Given the description of an element on the screen output the (x, y) to click on. 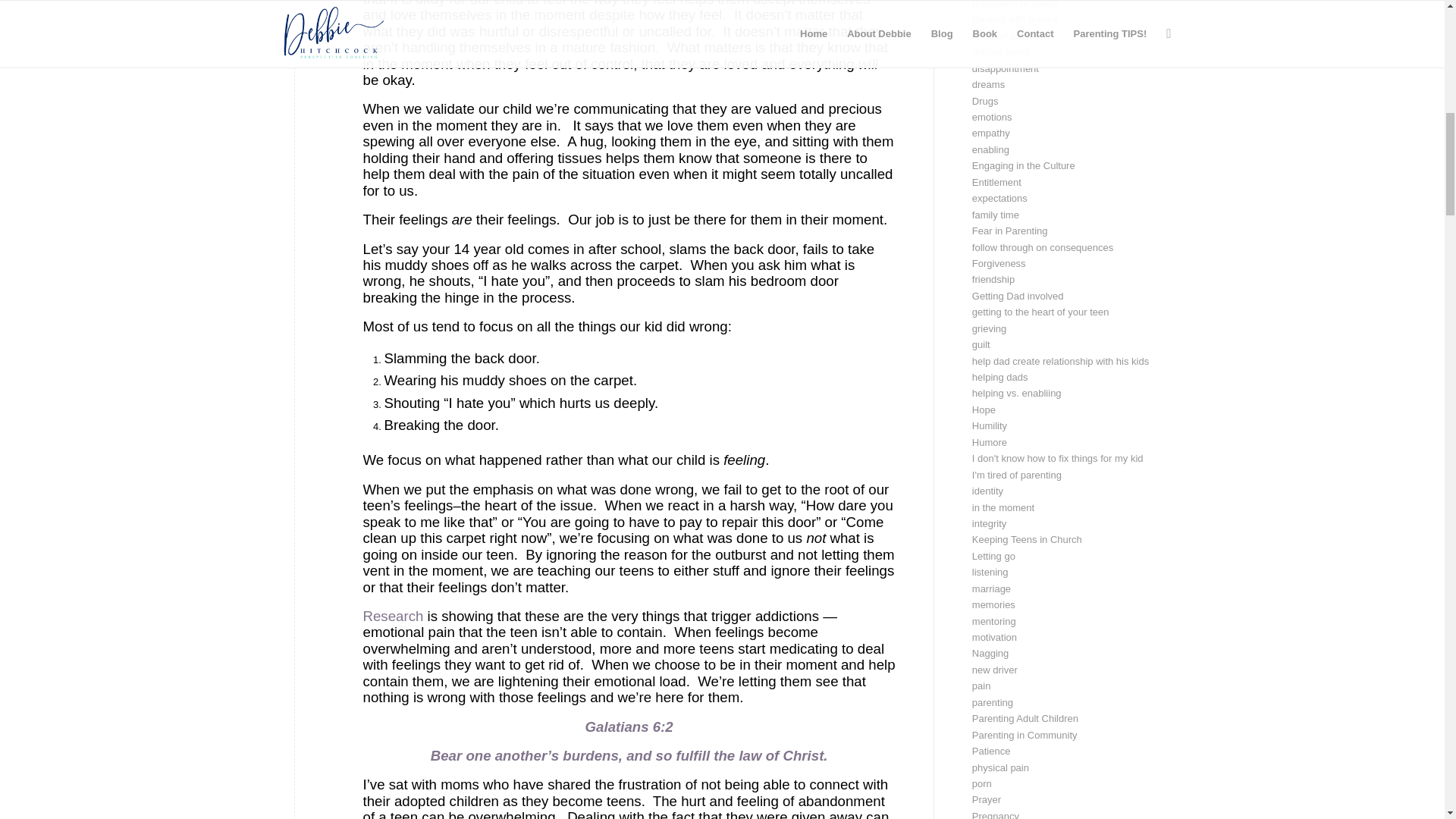
Research (392, 616)
